Given the description of an element on the screen output the (x, y) to click on. 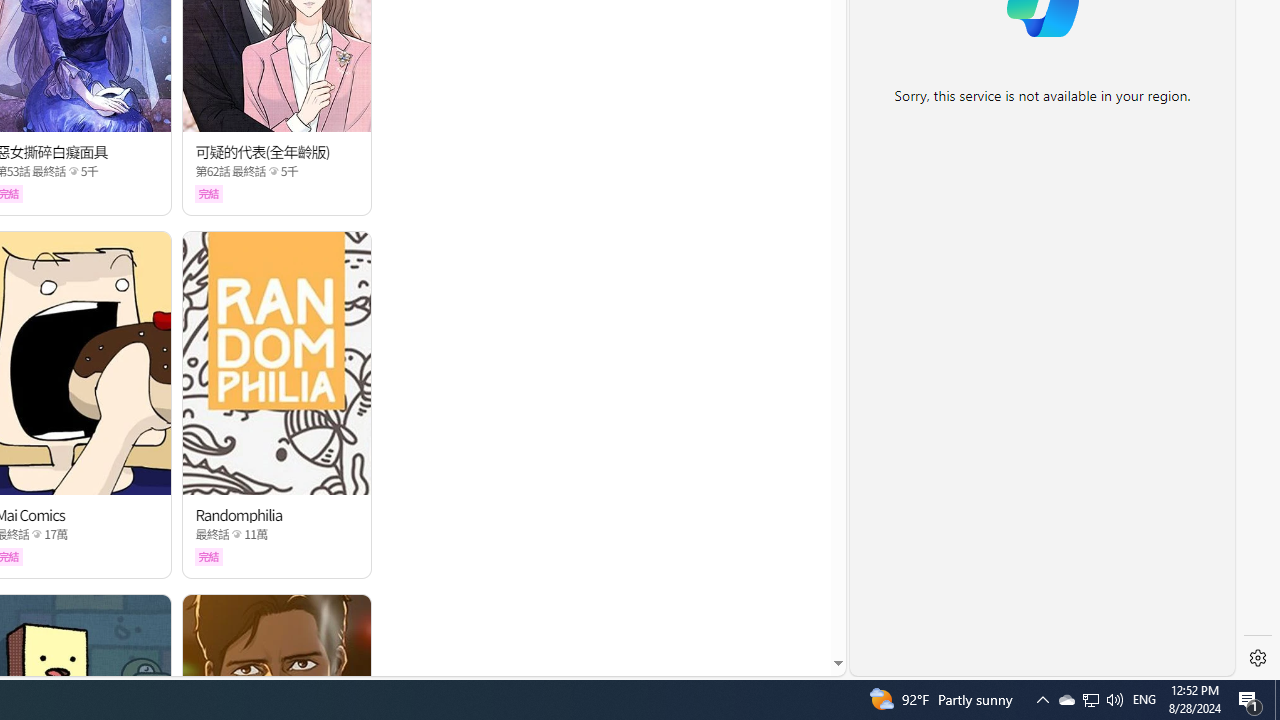
Class: thumb_img (277, 363)
Class: epicon_starpoint (237, 534)
